Given the description of an element on the screen output the (x, y) to click on. 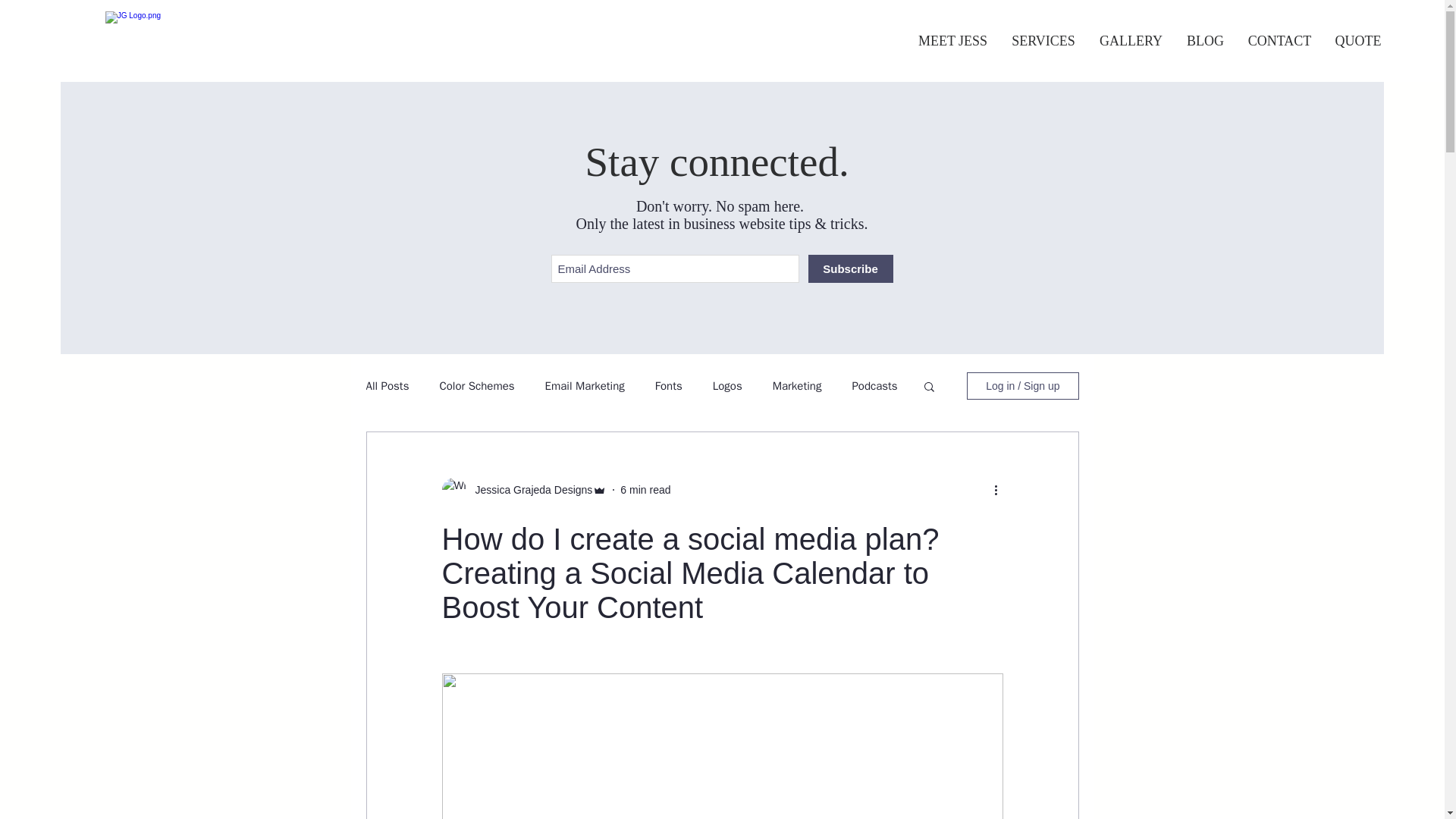
Logos (727, 386)
CONTACT (1279, 40)
GALLERY (1130, 40)
Color Schemes (476, 386)
Email Marketing (584, 386)
6 min read (644, 490)
Marketing (797, 386)
QUOTE (1358, 40)
Jessica Grajeda Designs (528, 489)
Podcasts (873, 386)
Fonts (668, 386)
MEET JESS (951, 40)
BLOG (1205, 40)
All Posts (387, 386)
Subscribe (850, 268)
